Given the description of an element on the screen output the (x, y) to click on. 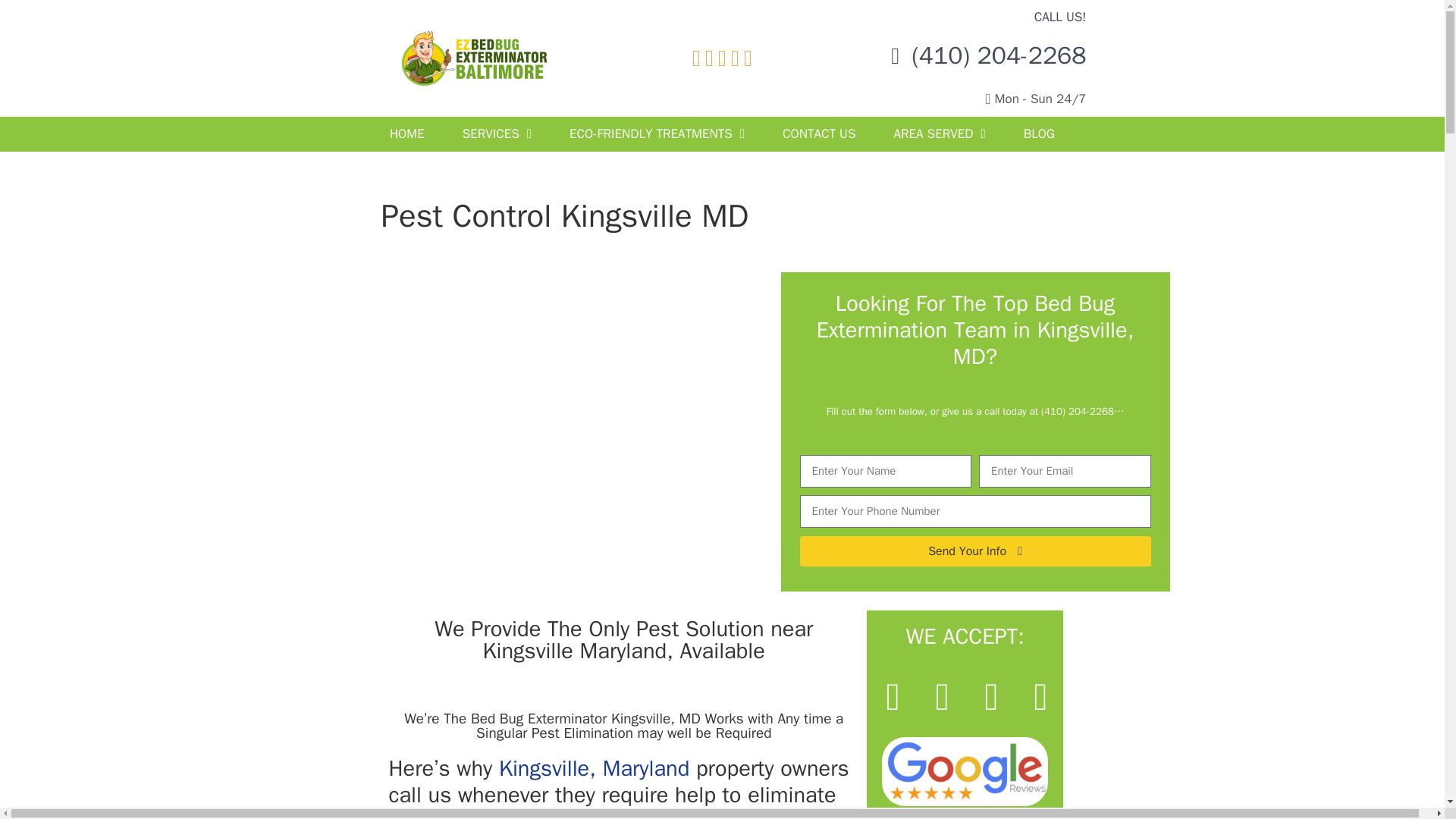
SERVICES (497, 134)
ECO-FRIENDLY TREATMENTS (656, 134)
HOME (407, 134)
AREA SERVED (939, 134)
CONTACT US (818, 134)
